Given the description of an element on the screen output the (x, y) to click on. 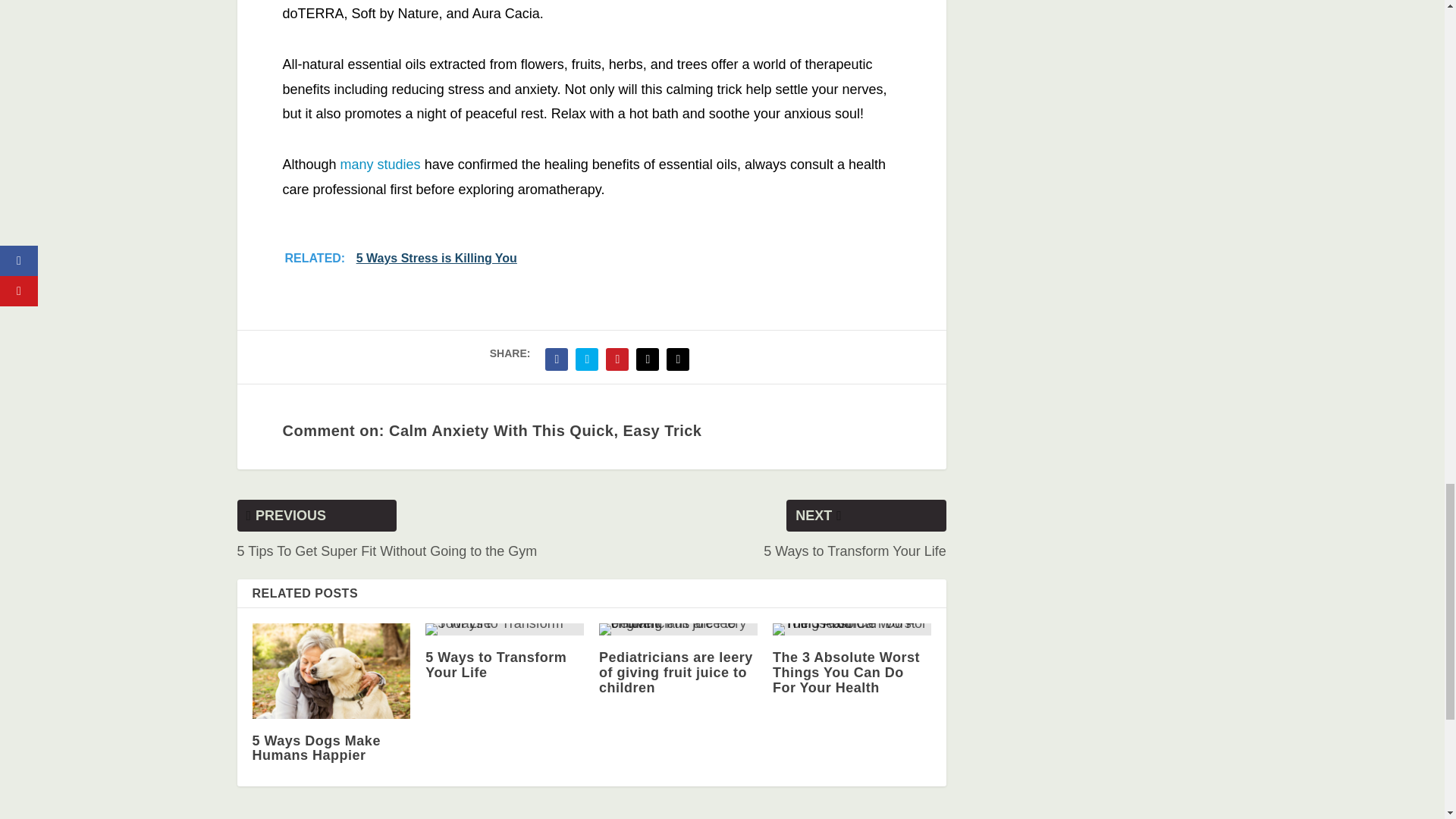
RELATED:   5 Ways Stress is Killing You (589, 257)
5 Ways to Transform Your Life (495, 665)
5 Ways Dogs Make Humans Happier (315, 747)
Share "Calm Anxiety With This Quick, Easy Trick" via Print (677, 358)
The 3 Absolute Worst Things You Can Do For Your Health (846, 672)
5 Ways Dogs Make Humans Happier (330, 670)
Pediatricians are leery of giving fruit juice to children (677, 629)
Share "Calm Anxiety With This Quick, Easy Trick" via Twitter (587, 358)
Share "Calm Anxiety With This Quick, Easy Trick" via Email (646, 358)
